Given the description of an element on the screen output the (x, y) to click on. 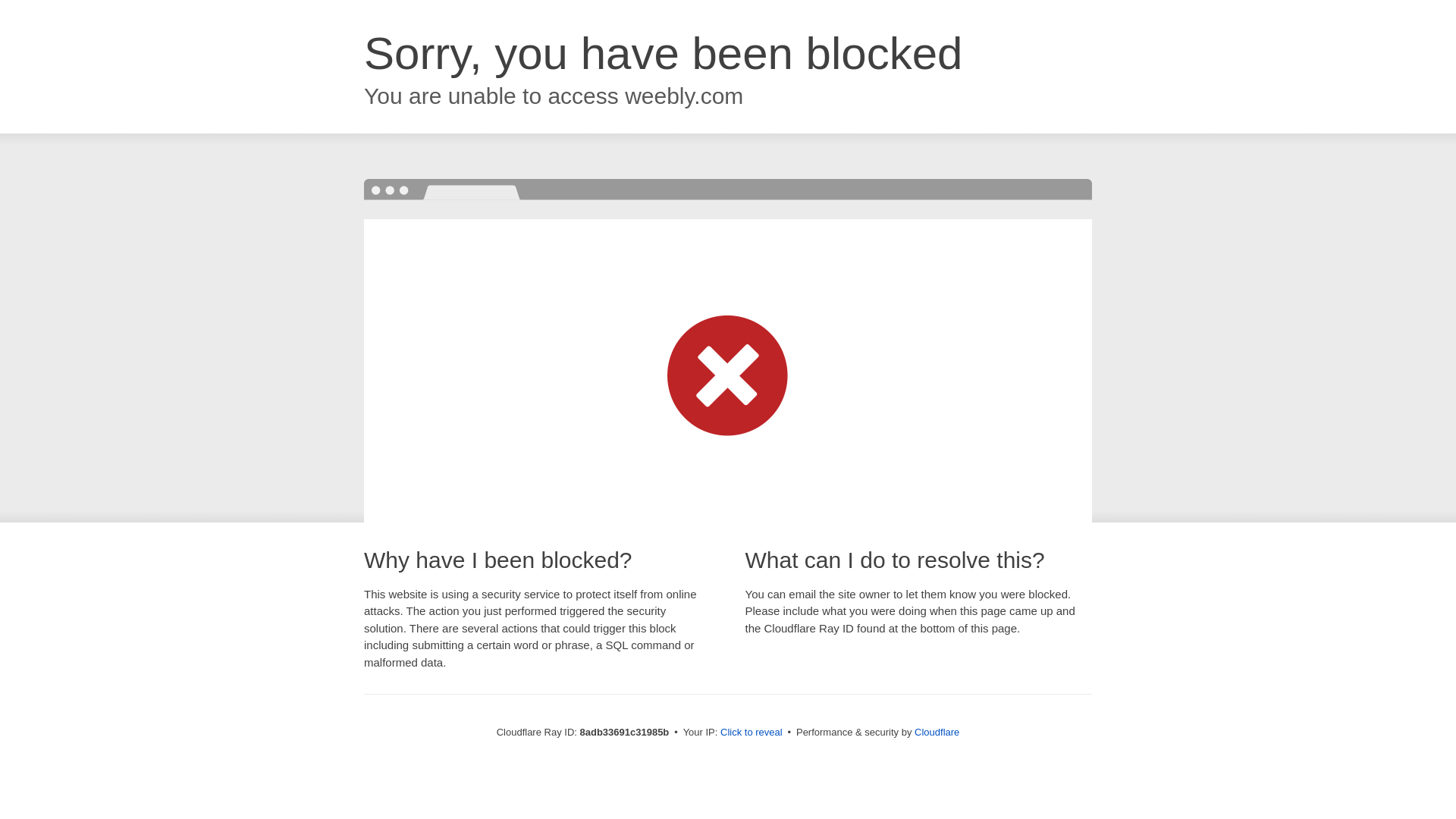
Click to reveal (751, 732)
Cloudflare (936, 731)
